Given the description of an element on the screen output the (x, y) to click on. 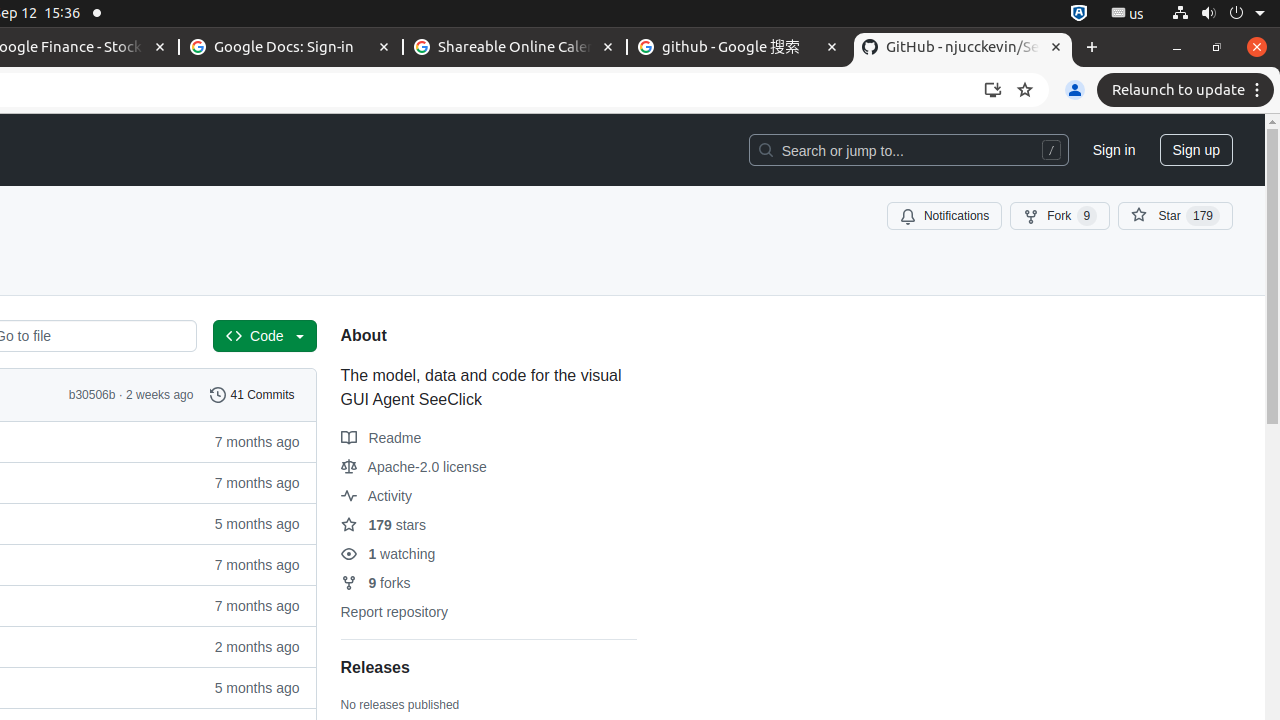
41 Commits Element type: link (252, 395)
Sign in Element type: link (1114, 150)
179 stars Element type: link (383, 525)
